Given the description of an element on the screen output the (x, y) to click on. 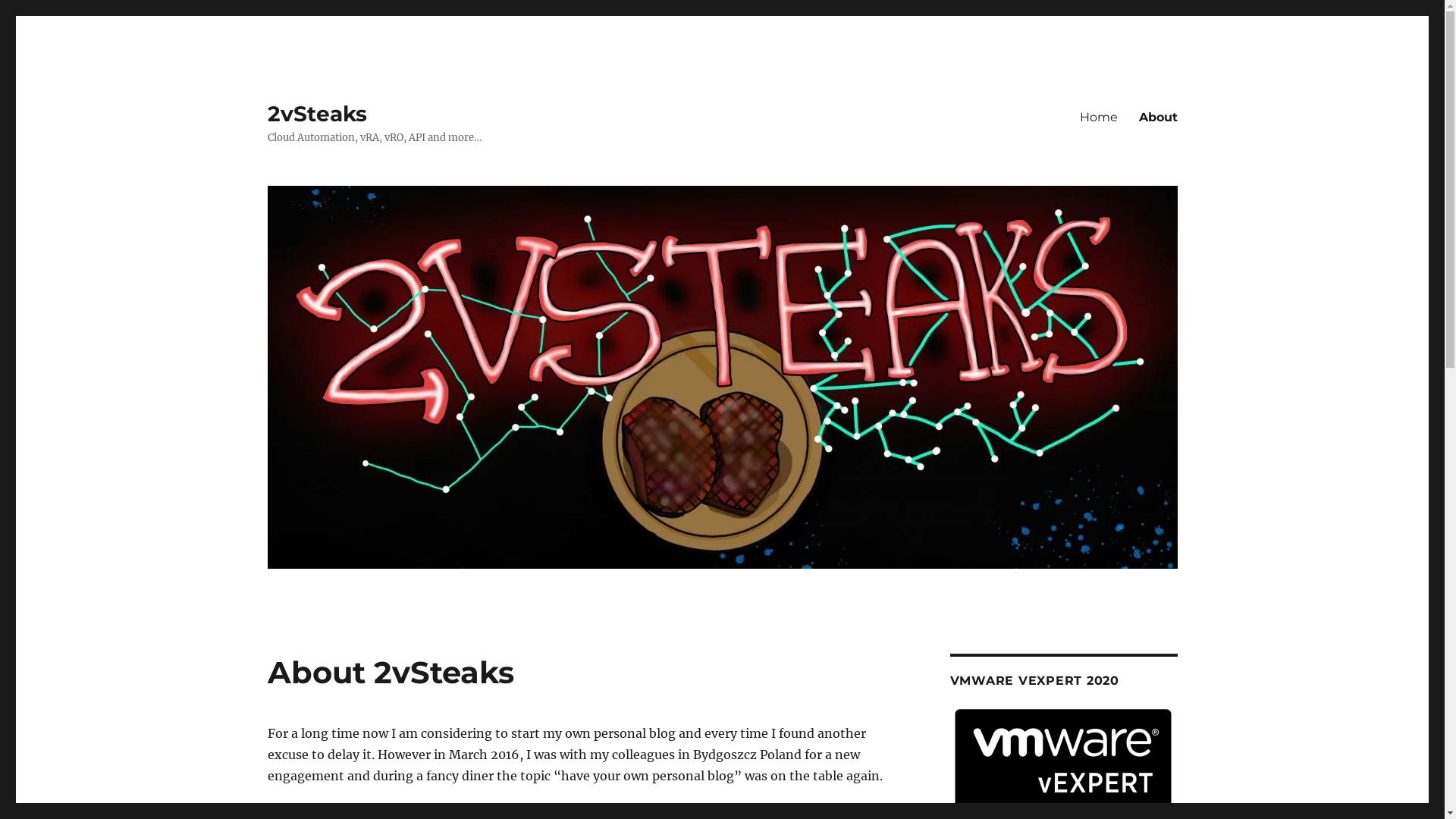
Home Element type: text (1098, 116)
About Element type: text (1158, 116)
2vSteaks Element type: text (316, 113)
